Given the description of an element on the screen output the (x, y) to click on. 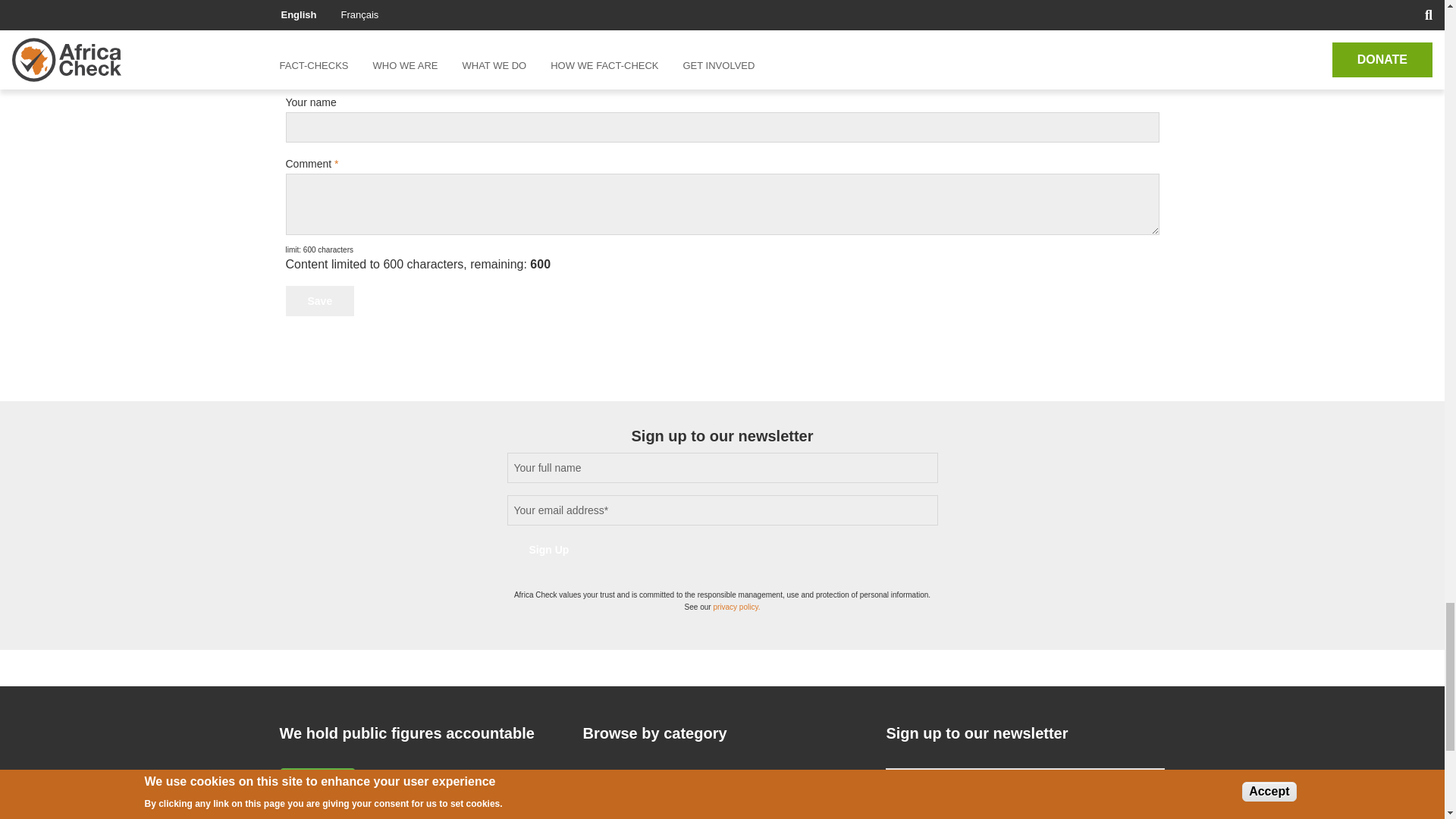
Get Code (348, 3)
Sign Up (548, 549)
Save (319, 300)
IFCN signatory (317, 793)
